Given the description of an element on the screen output the (x, y) to click on. 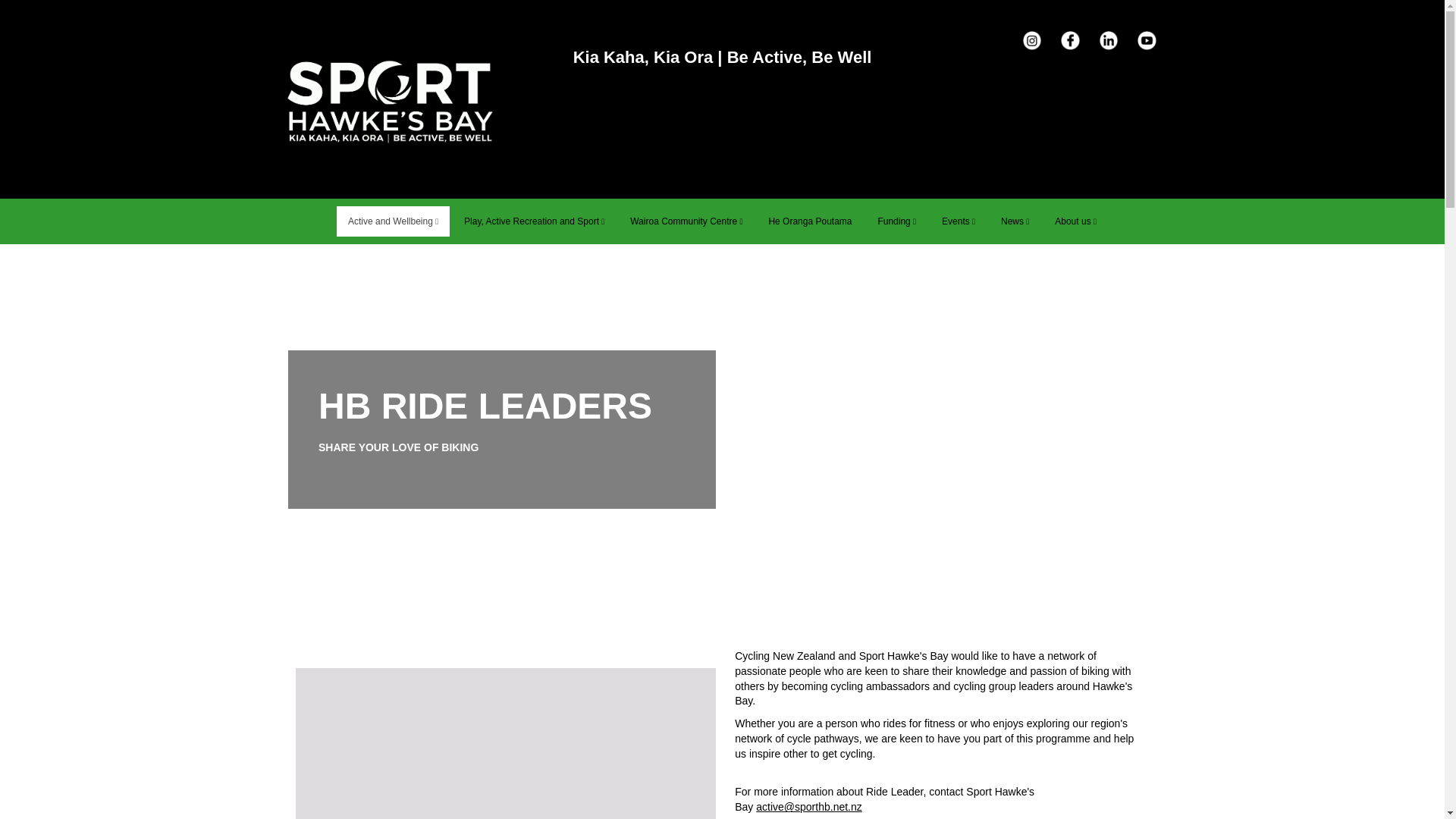
Play, Active Recreation and Sport (533, 221)
Wairoa Community Centre (686, 221)
Active and Wellbeing (392, 221)
